Given the description of an element on the screen output the (x, y) to click on. 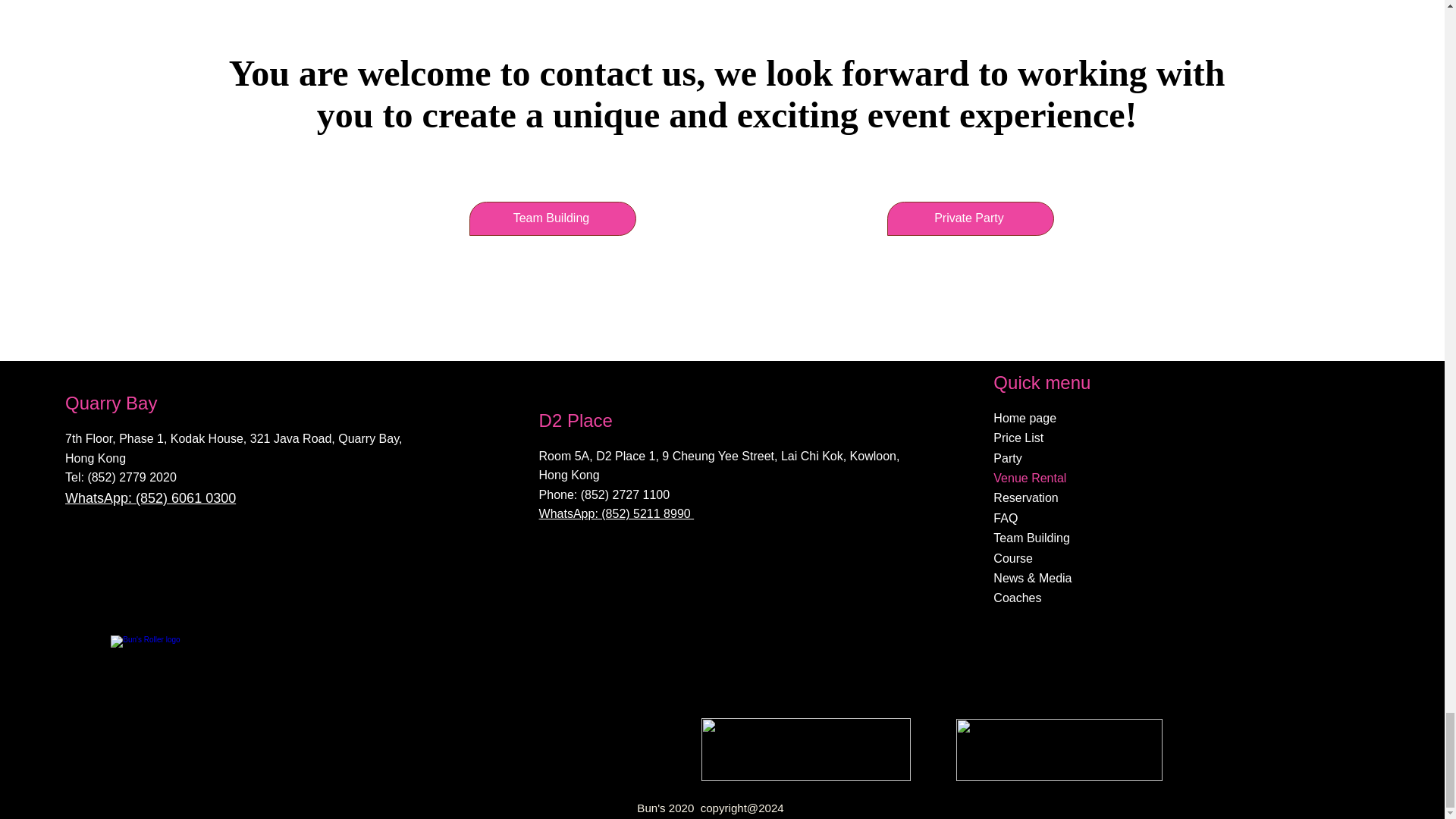
Team Building (1204, 537)
Quarry Bay (111, 403)
Home page (1204, 418)
Course (1204, 558)
Party (1204, 458)
Price List (1204, 437)
Private Party (970, 218)
Venue Rental (1204, 478)
Reservation (1204, 497)
Team Building (552, 218)
